Given the description of an element on the screen output the (x, y) to click on. 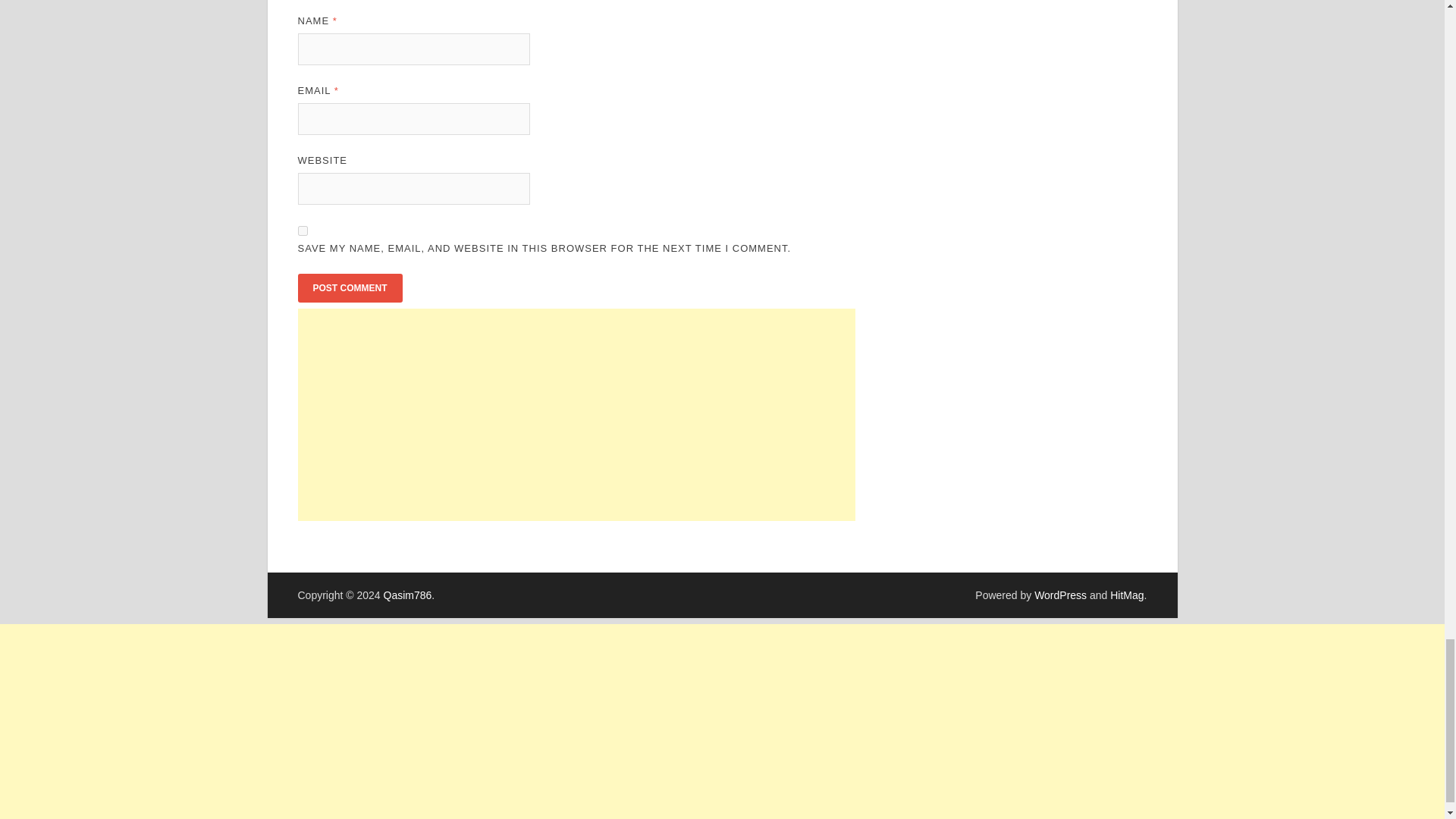
yes (302, 230)
Post Comment (349, 287)
Post Comment (349, 287)
